Given the description of an element on the screen output the (x, y) to click on. 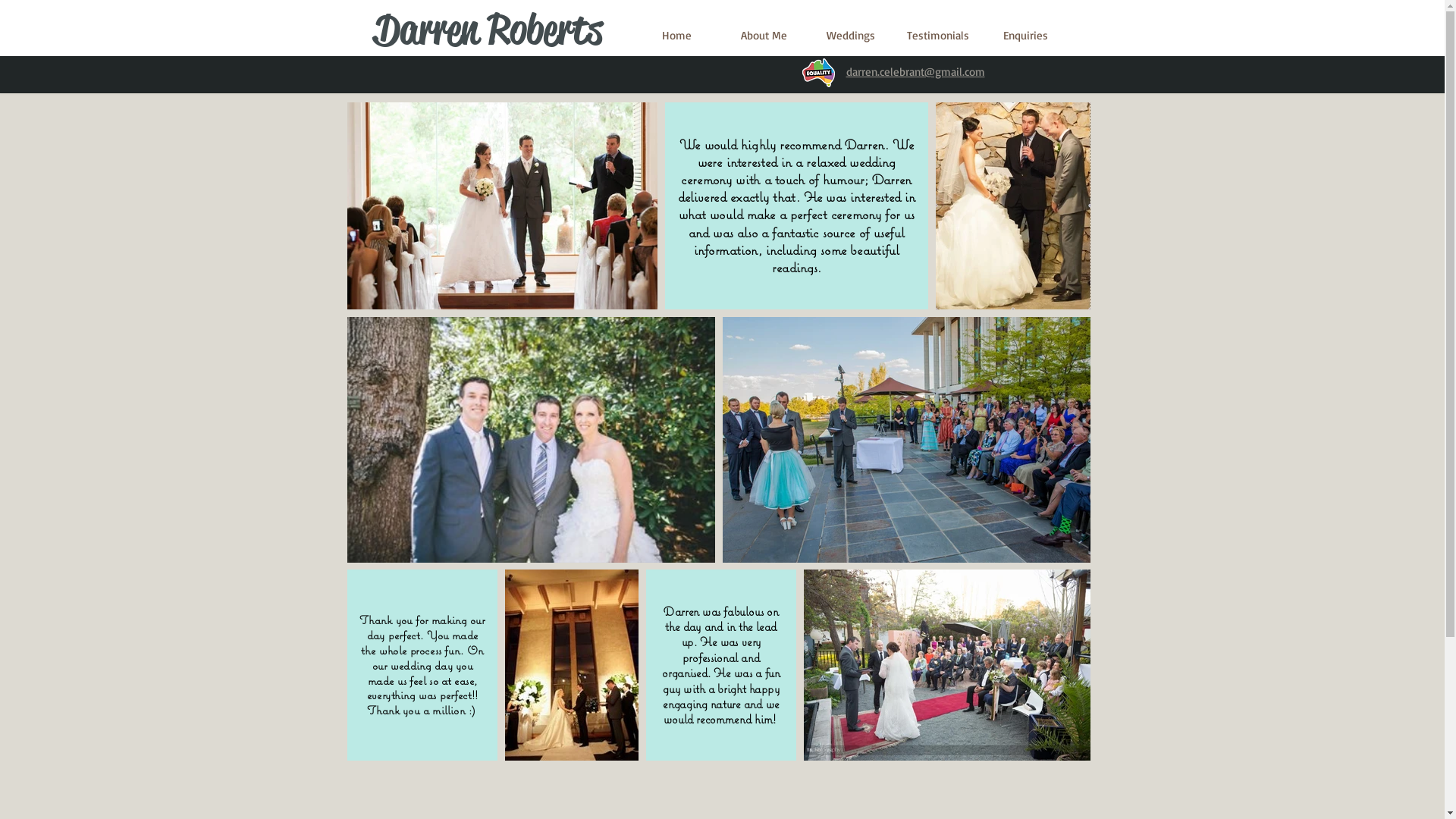
Darren Roberts  Element type: text (487, 29)
About Me Element type: text (763, 34)
Home Element type: text (675, 34)
Testimonials Element type: text (938, 34)
darren.celebrant@gmail.com Element type: text (915, 71)
Weddings Element type: text (850, 34)
Enquiries Element type: text (1024, 34)
